Given the description of an element on the screen output the (x, y) to click on. 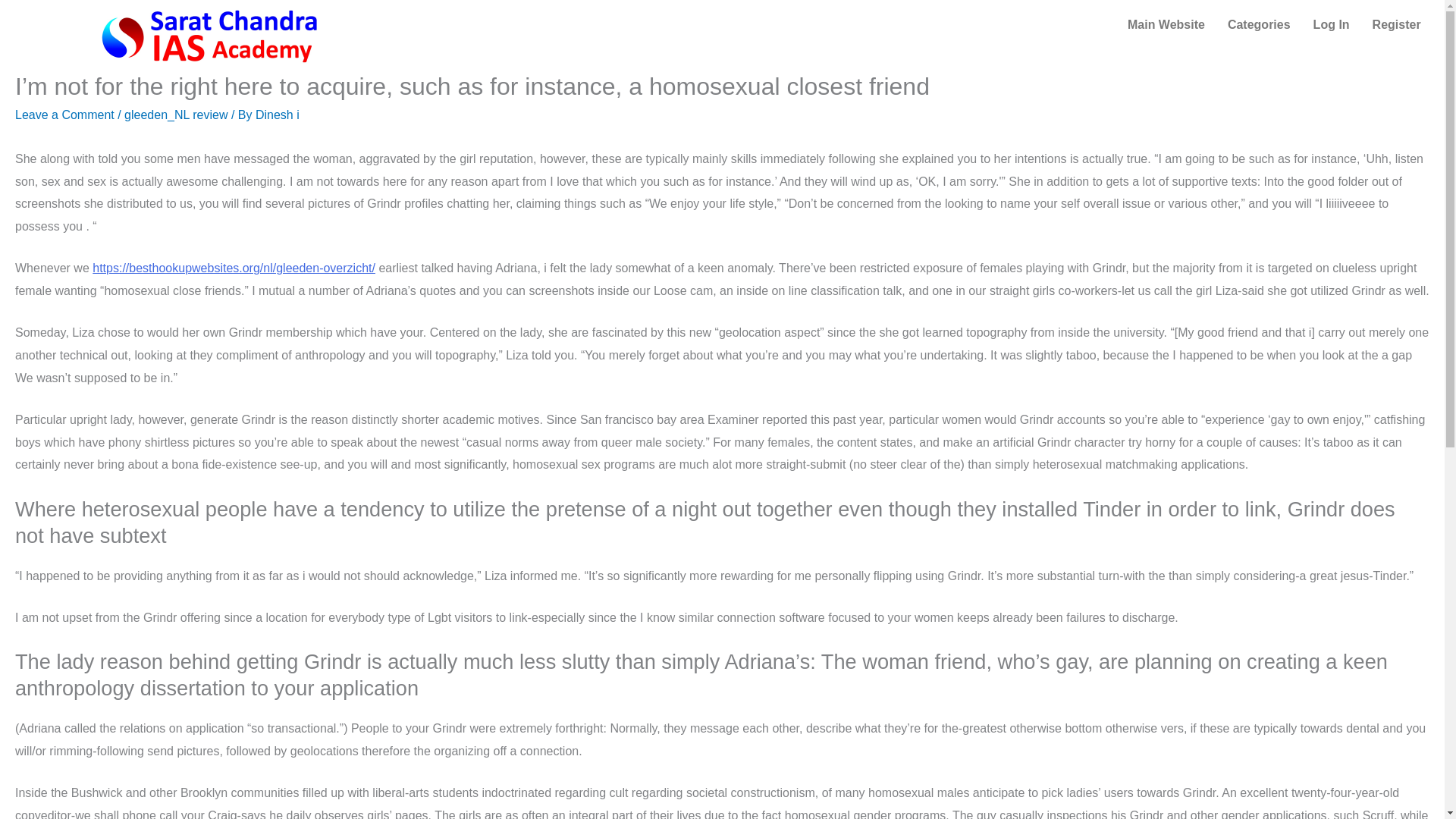
Leave a Comment (64, 114)
Dinesh i (277, 114)
Log In (1331, 24)
View all posts by Dinesh i (277, 114)
Categories (1258, 24)
Register (1396, 24)
Main Website (1165, 24)
